Given the description of an element on the screen output the (x, y) to click on. 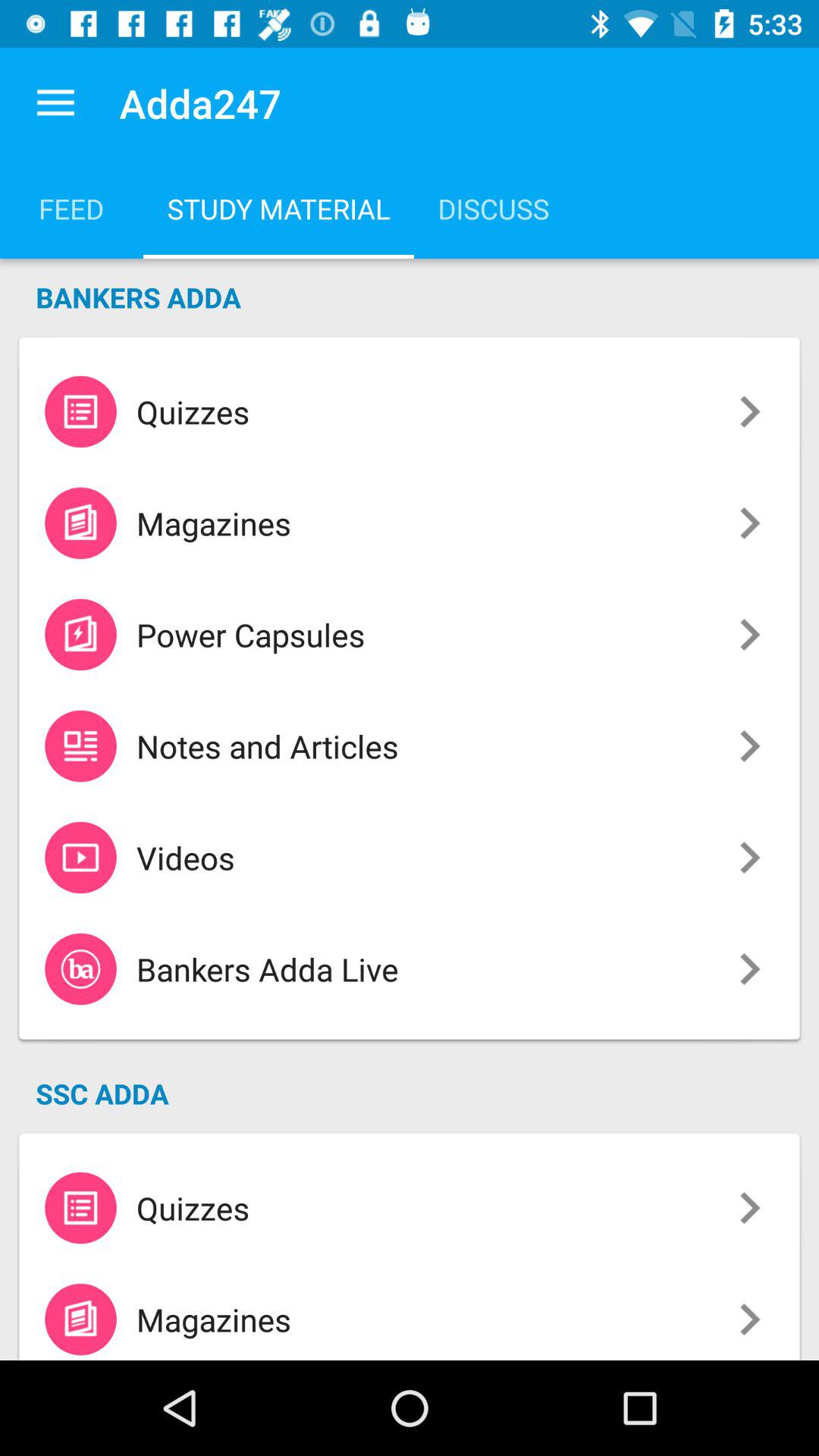
tap the app to the left of the adda247 (55, 103)
